Given the description of an element on the screen output the (x, y) to click on. 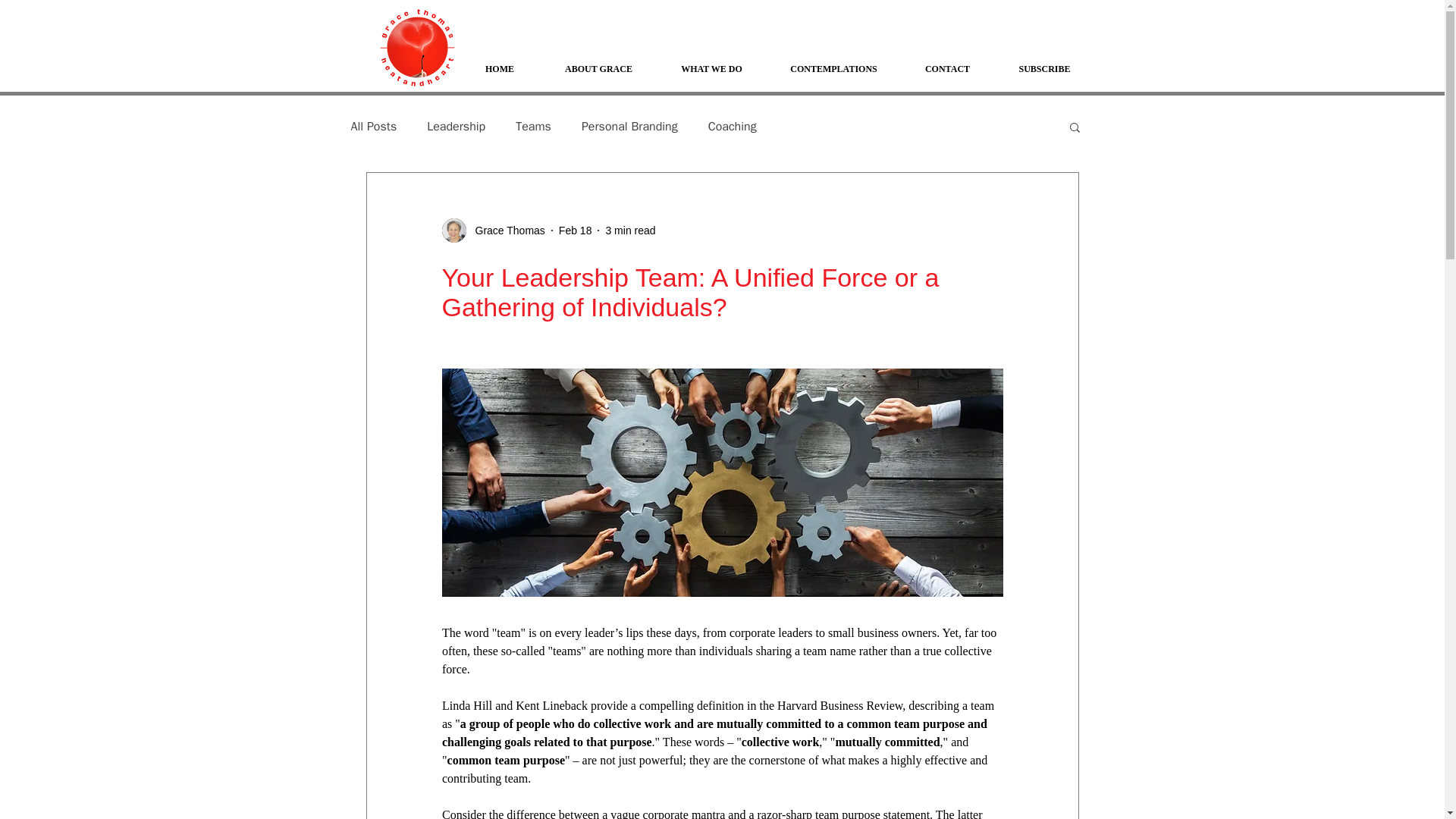
SUBSCRIBE (1043, 69)
Teams (533, 125)
CONTEMPLATIONS (833, 69)
HOME (499, 69)
WHAT WE DO (711, 69)
ABOUT GRACE (598, 69)
Personal Branding (629, 125)
All Posts (373, 125)
Coaching (732, 125)
Grace Thomas (492, 230)
